Given the description of an element on the screen output the (x, y) to click on. 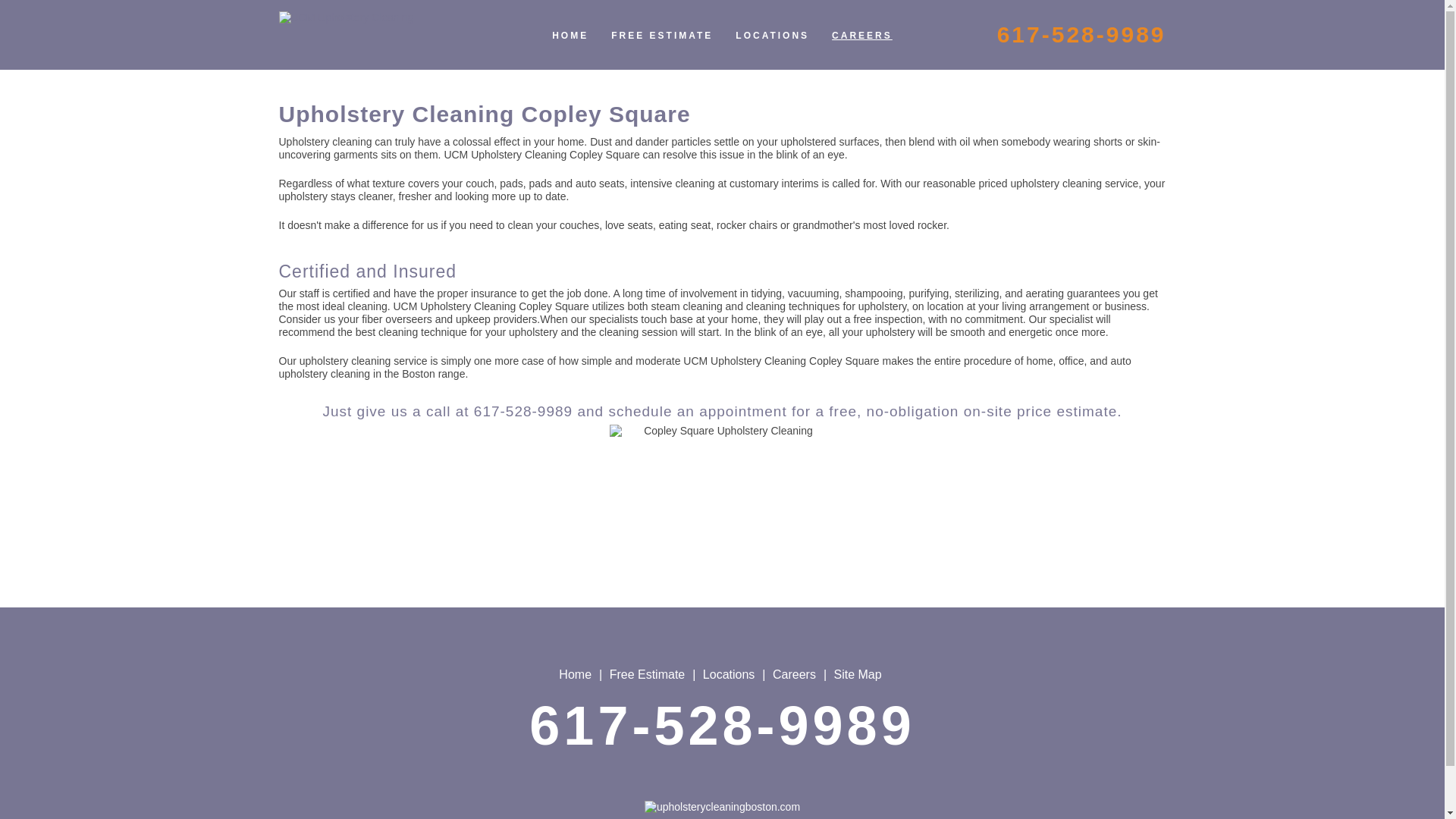
LOCATIONS (772, 35)
Careers (794, 674)
617-528-9989 (1081, 34)
FREE ESTIMATE (661, 35)
HOME (569, 35)
Free Estimate (647, 674)
Locations (729, 674)
617-528-9989 (721, 725)
upholsterycleaningboston.com (722, 807)
UCM Upholstery Cleaning (381, 34)
Site Map (856, 674)
Copley Square Upholstery Cleaning (722, 538)
CAREERS (862, 35)
Home (575, 674)
